Given the description of an element on the screen output the (x, y) to click on. 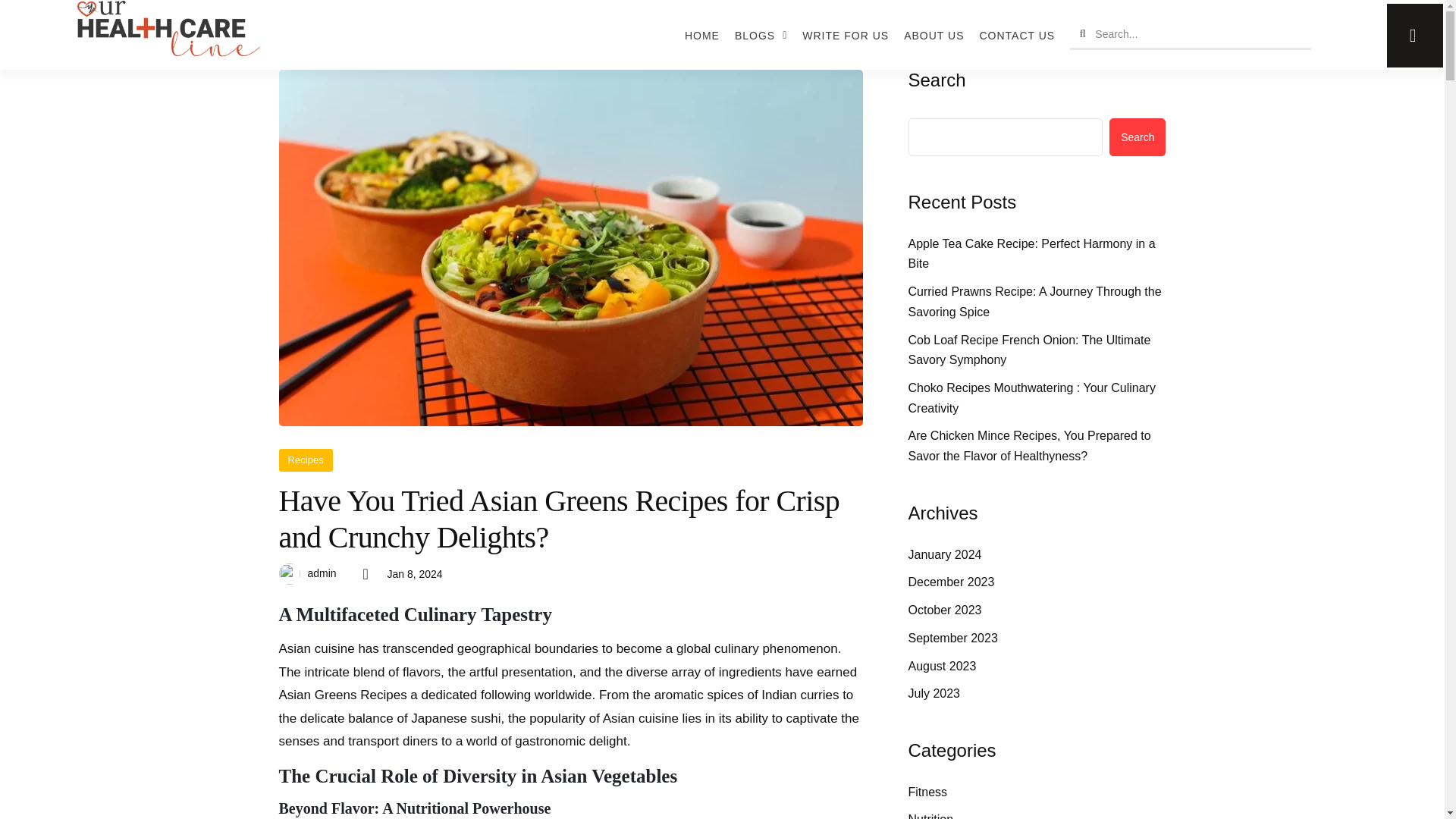
admin (321, 572)
ABOUT US (933, 35)
CONTACT US (1016, 35)
BLOGS (761, 35)
Search (1137, 136)
Recipes (306, 459)
Search (1198, 34)
Curried Prawns Recipe: A Journey Through the Savoring Spice (1037, 301)
HOME (701, 35)
Cob Loaf Recipe French Onion: The Ultimate Savory Symphony (1037, 350)
